Given the description of an element on the screen output the (x, y) to click on. 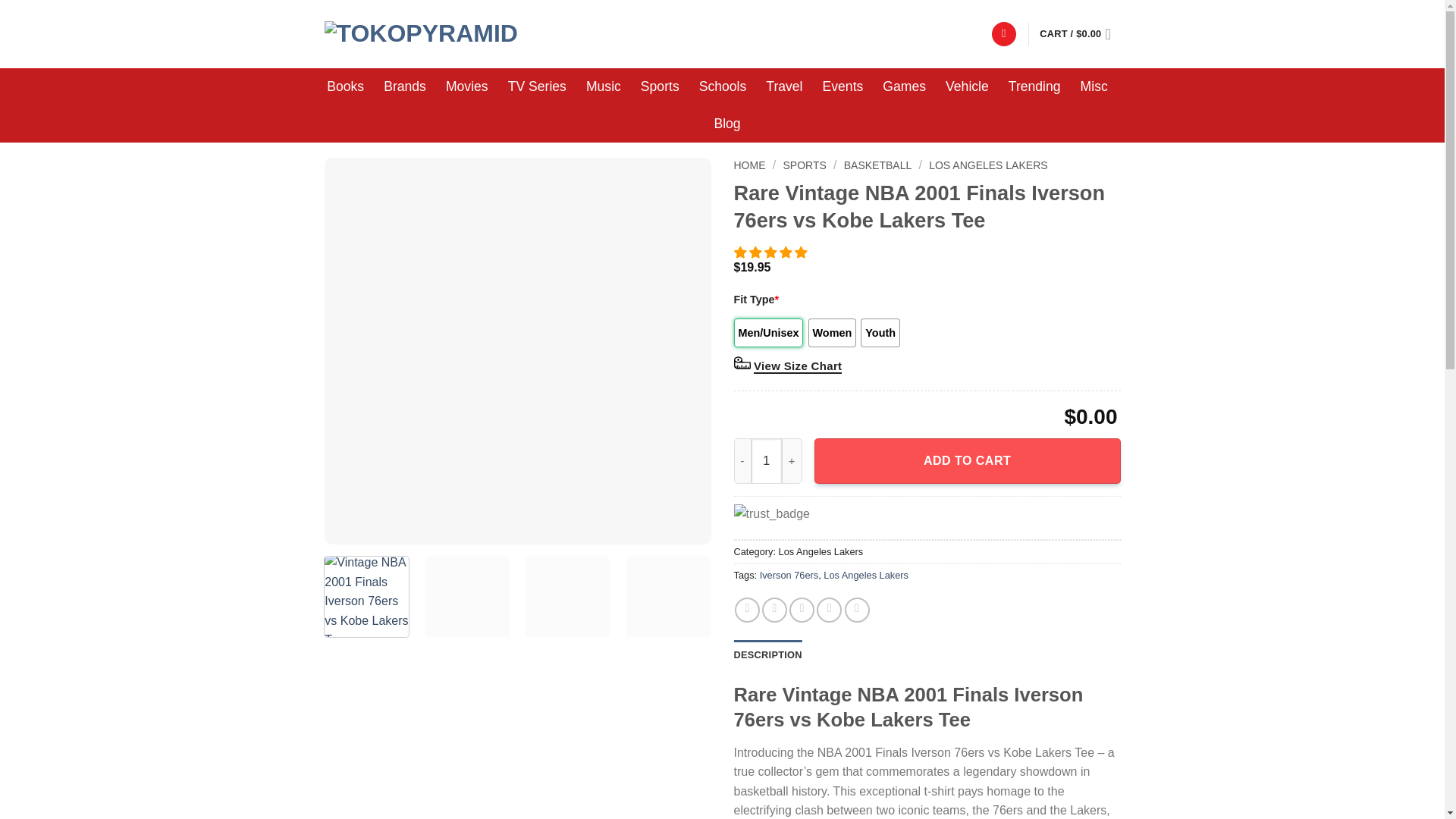
HOME (749, 164)
Cart (1079, 33)
Sports (659, 86)
Games (904, 86)
View Size Chart (797, 367)
TV Series (537, 86)
LOS ANGELES LAKERS (987, 164)
